Given the description of an element on the screen output the (x, y) to click on. 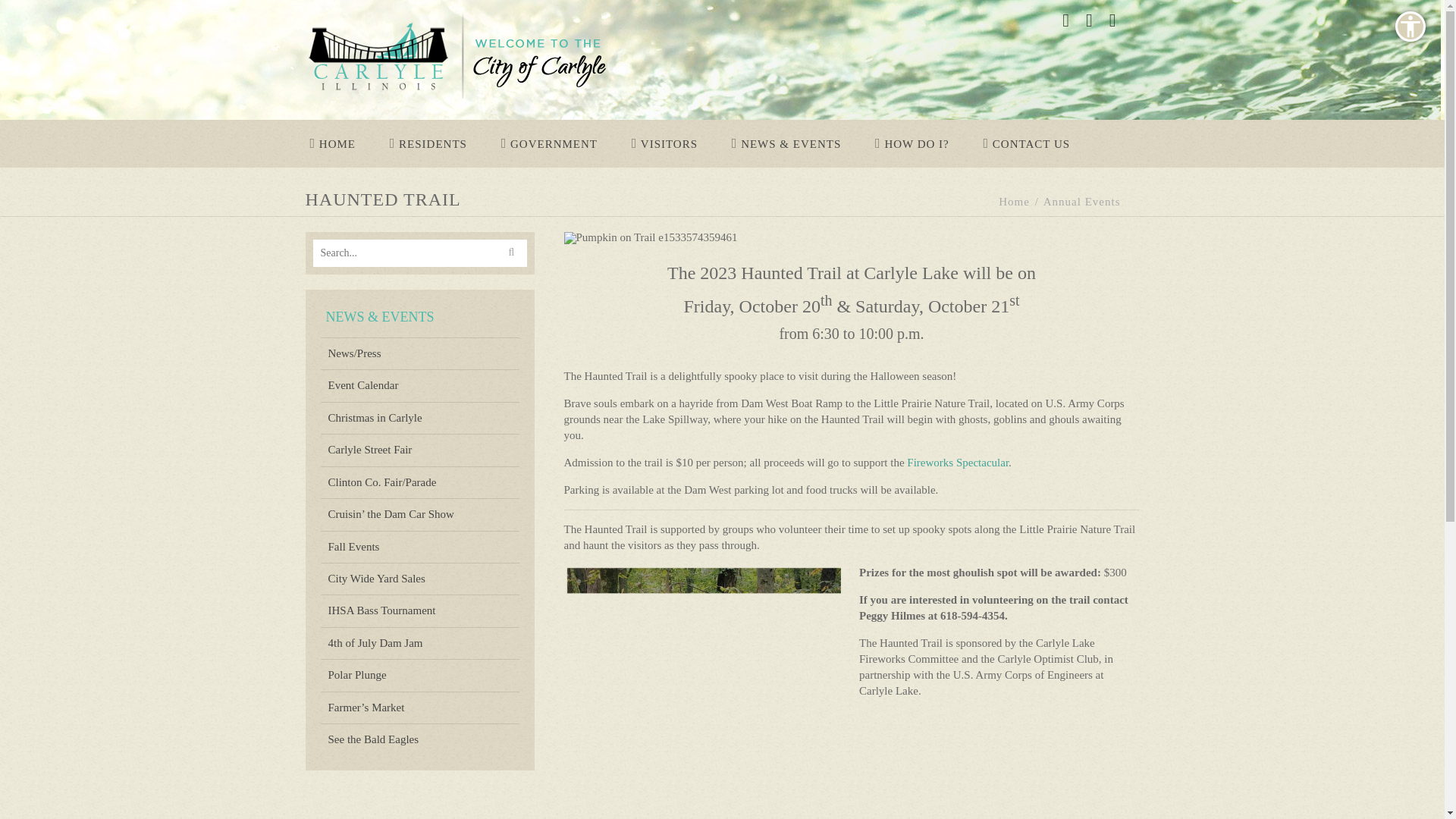
RESIDENTS (427, 143)
HOME (331, 143)
GOVERNMENT (548, 143)
